Given the description of an element on the screen output the (x, y) to click on. 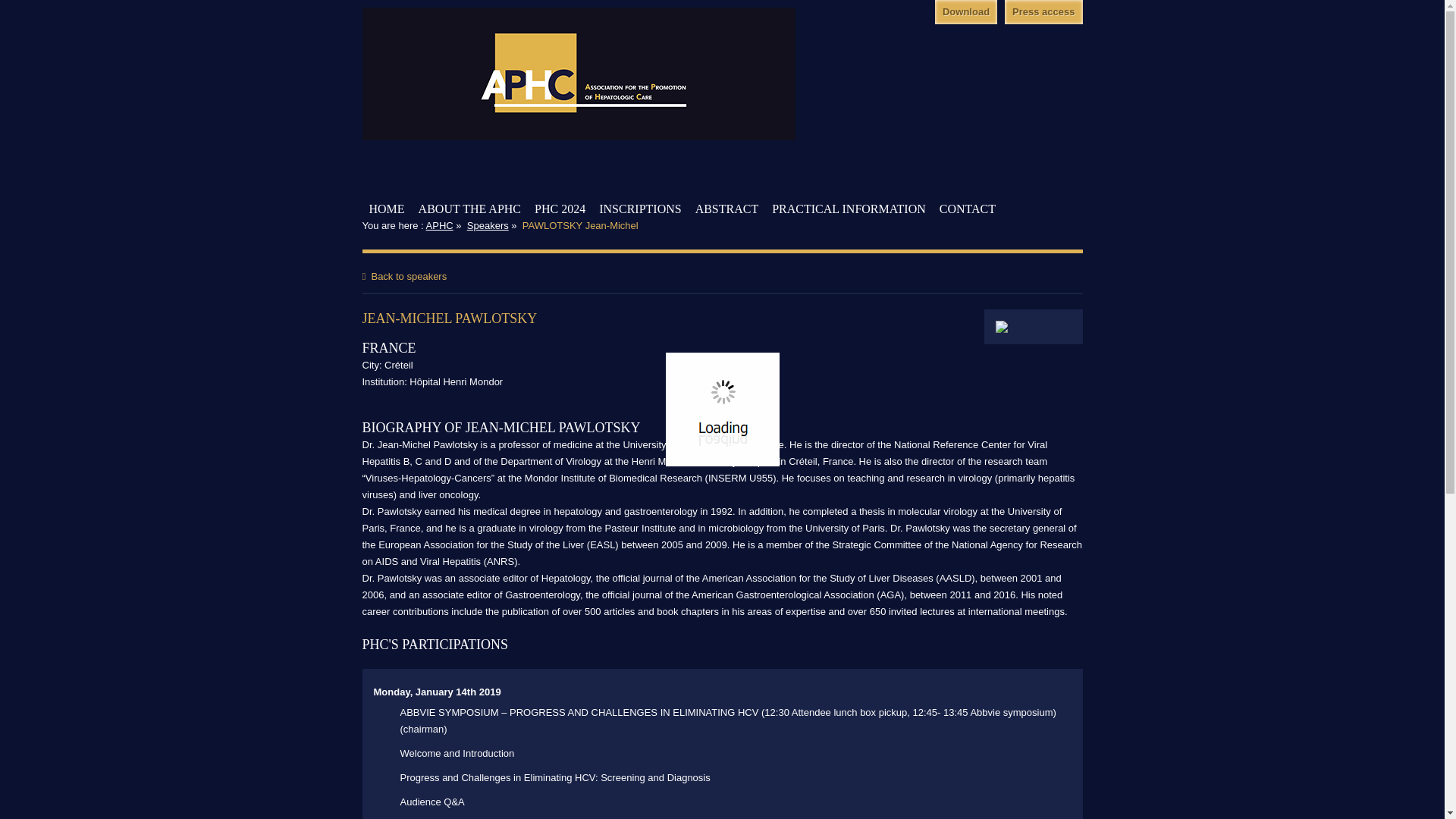
HOME (386, 208)
PRACTICAL INFORMATION (848, 208)
INSCRIPTIONS (639, 208)
APHC (439, 225)
PHC 2024 (559, 208)
CONTACT (967, 208)
Download (965, 12)
ABSTRACT (726, 208)
Speakers (487, 225)
ABOUT THE APHC (470, 208)
